Given the description of an element on the screen output the (x, y) to click on. 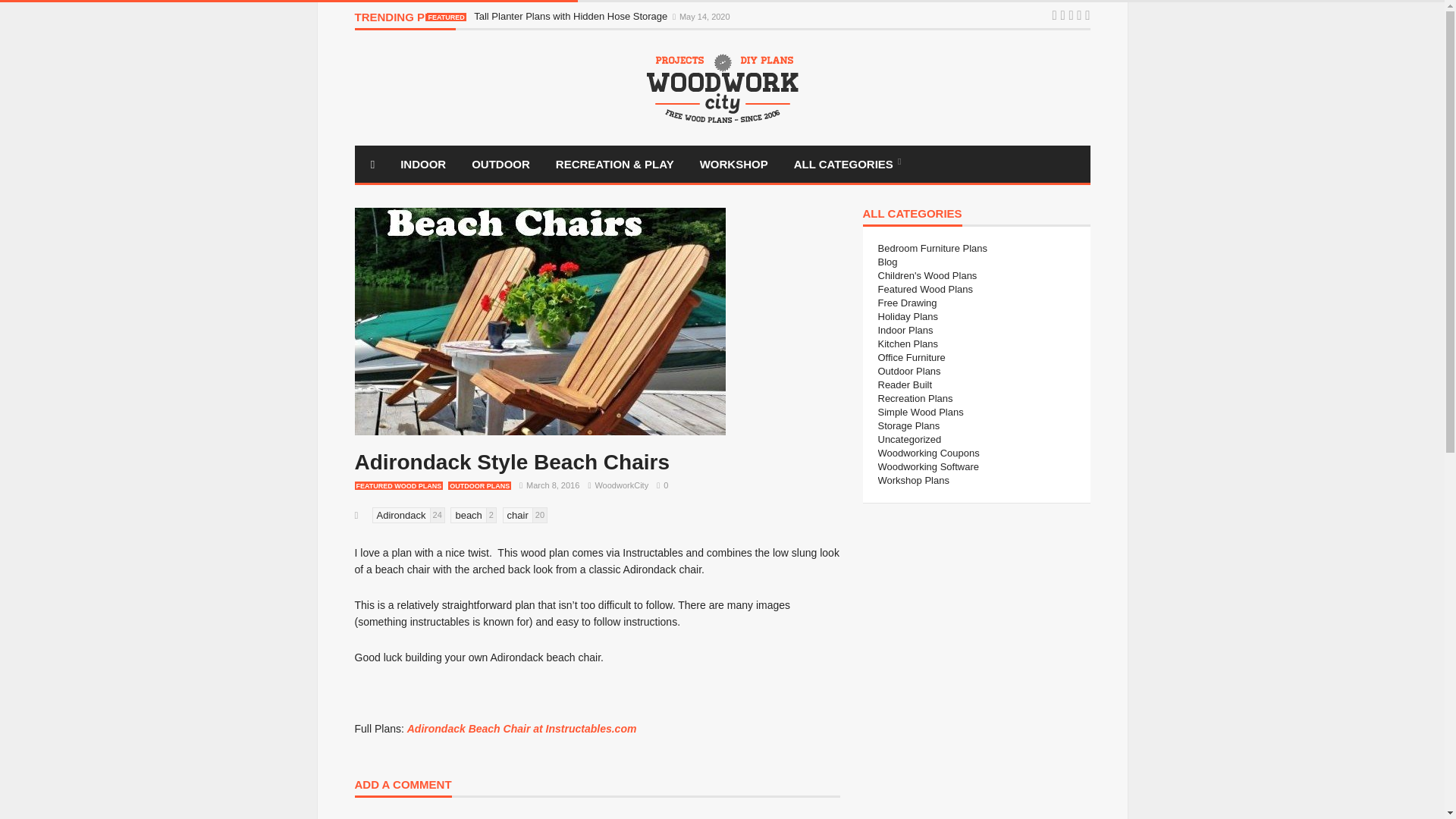
FEATURED Tall Planter Plans with Hidden Hose Storage (547, 16)
TRENDING PLANS (405, 20)
Outdoor (500, 163)
OUTDOOR (500, 163)
INDOOR (422, 163)
All Categories (847, 163)
Indoor (422, 163)
Workshop (733, 163)
